Given the description of an element on the screen output the (x, y) to click on. 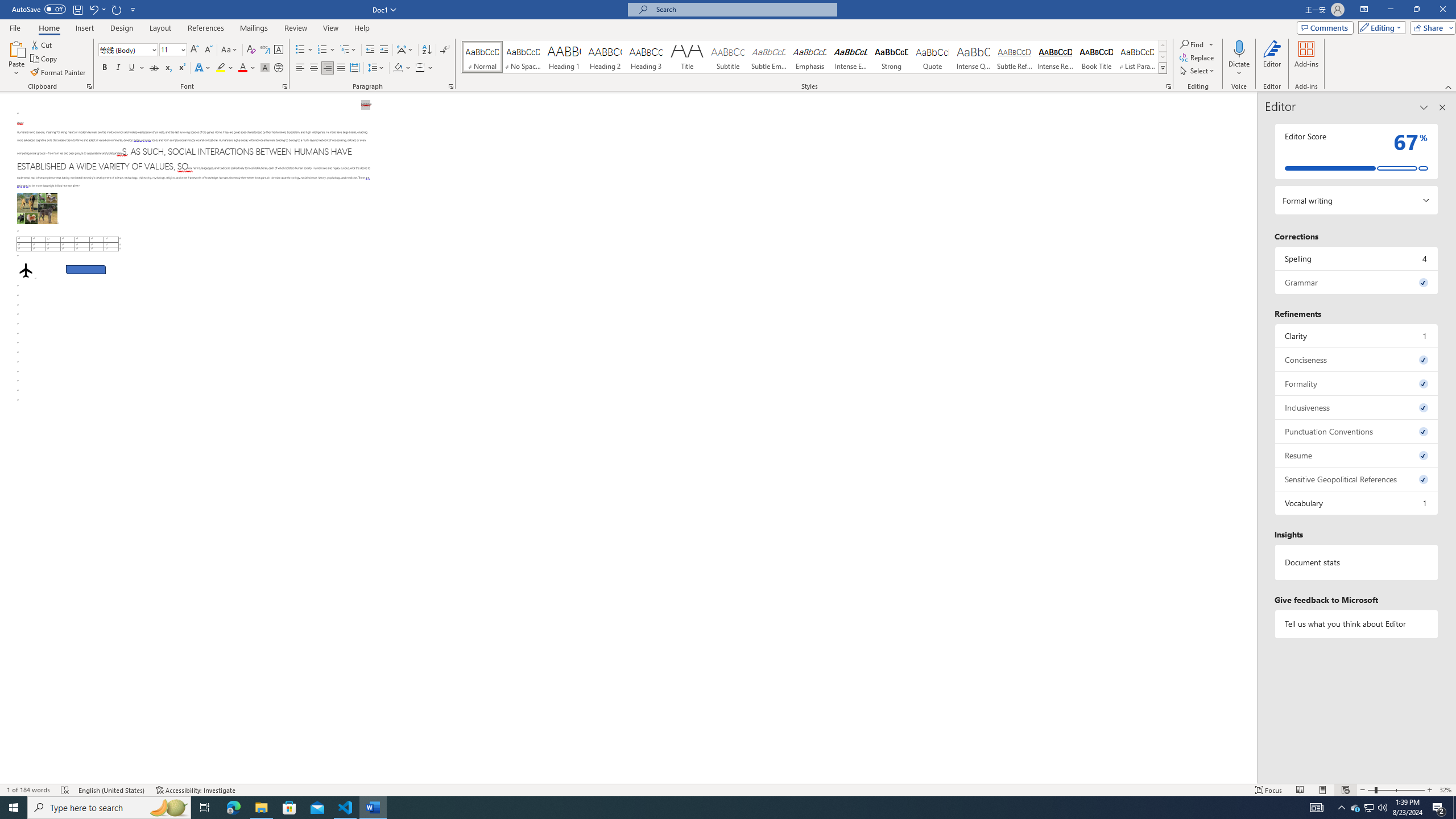
Editor Score 67% (1356, 151)
Spelling, 4 issues. Press space or enter to review items. (1356, 258)
Intense Reference (1055, 56)
